Given the description of an element on the screen output the (x, y) to click on. 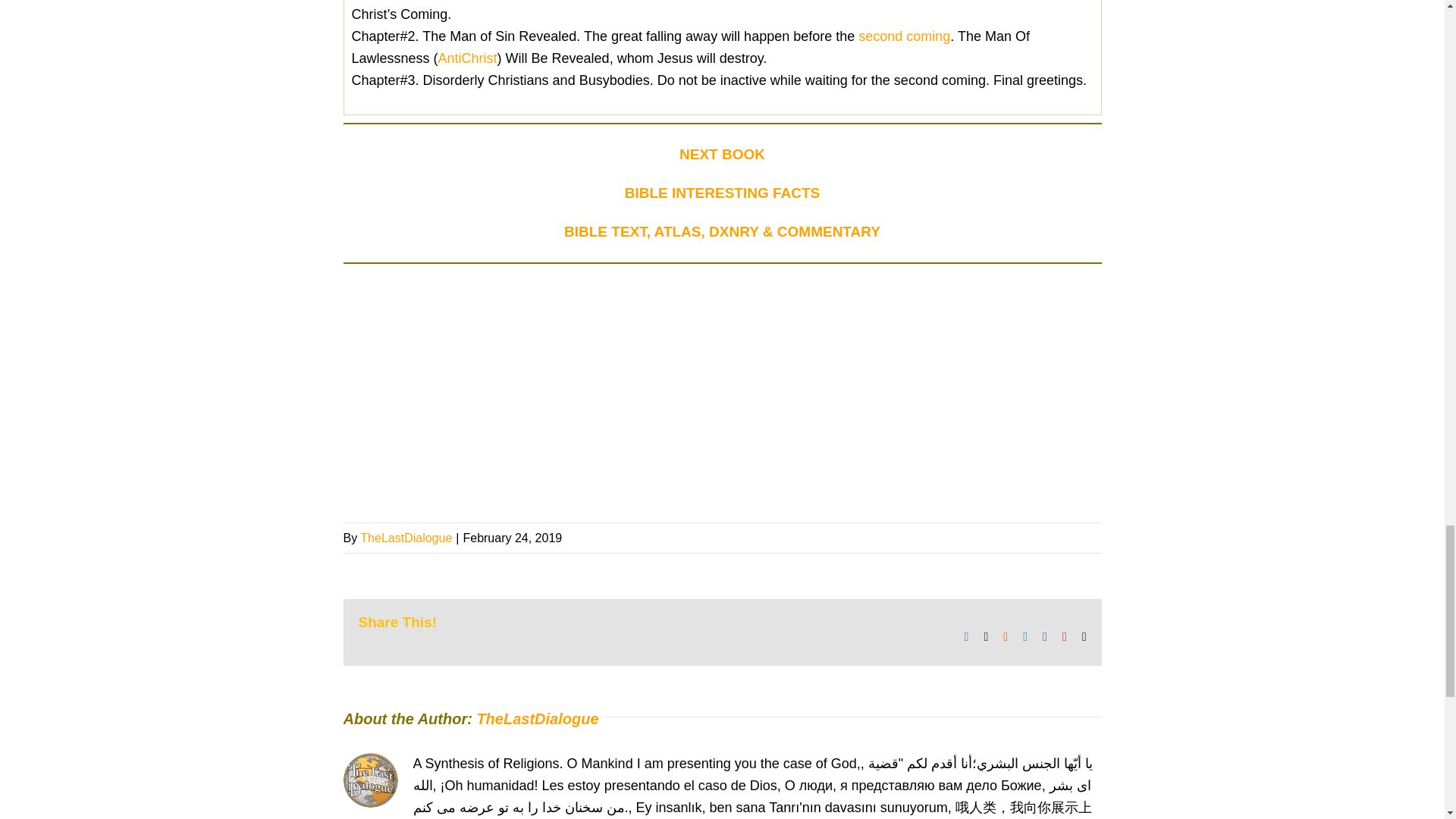
Posts by TheLastDialogue (405, 537)
